Given the description of an element on the screen output the (x, y) to click on. 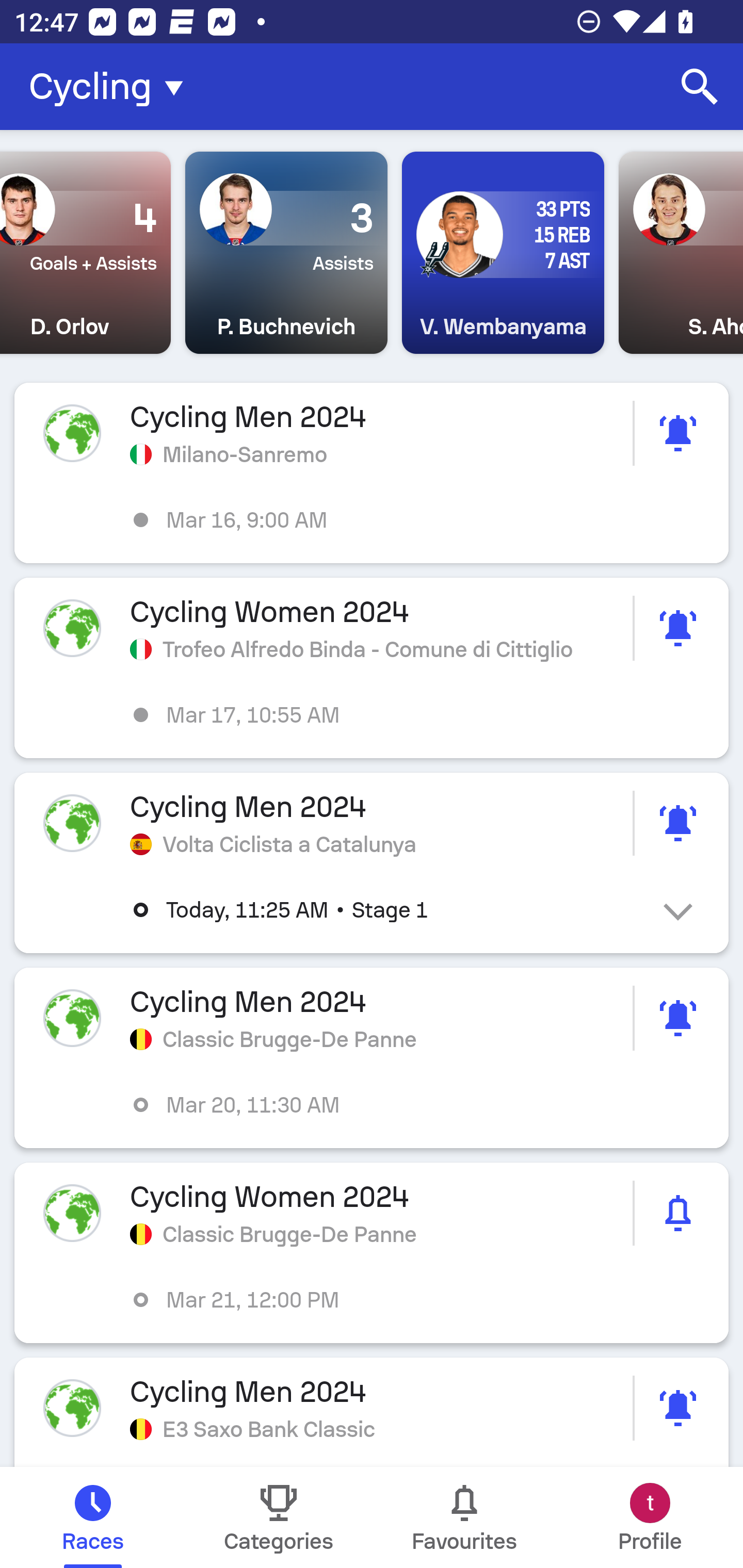
Cycling (111, 86)
Search (699, 86)
33 PTS
15 REB
7 AST V. Wembanyama (502, 253)
Today, 11:25 AM • Stage 1 (385, 910)
Cycling Men 2024 E3 Saxo Bank Classic picture (371, 1412)
Categories (278, 1517)
Favourites (464, 1517)
Profile (650, 1517)
